Given the description of an element on the screen output the (x, y) to click on. 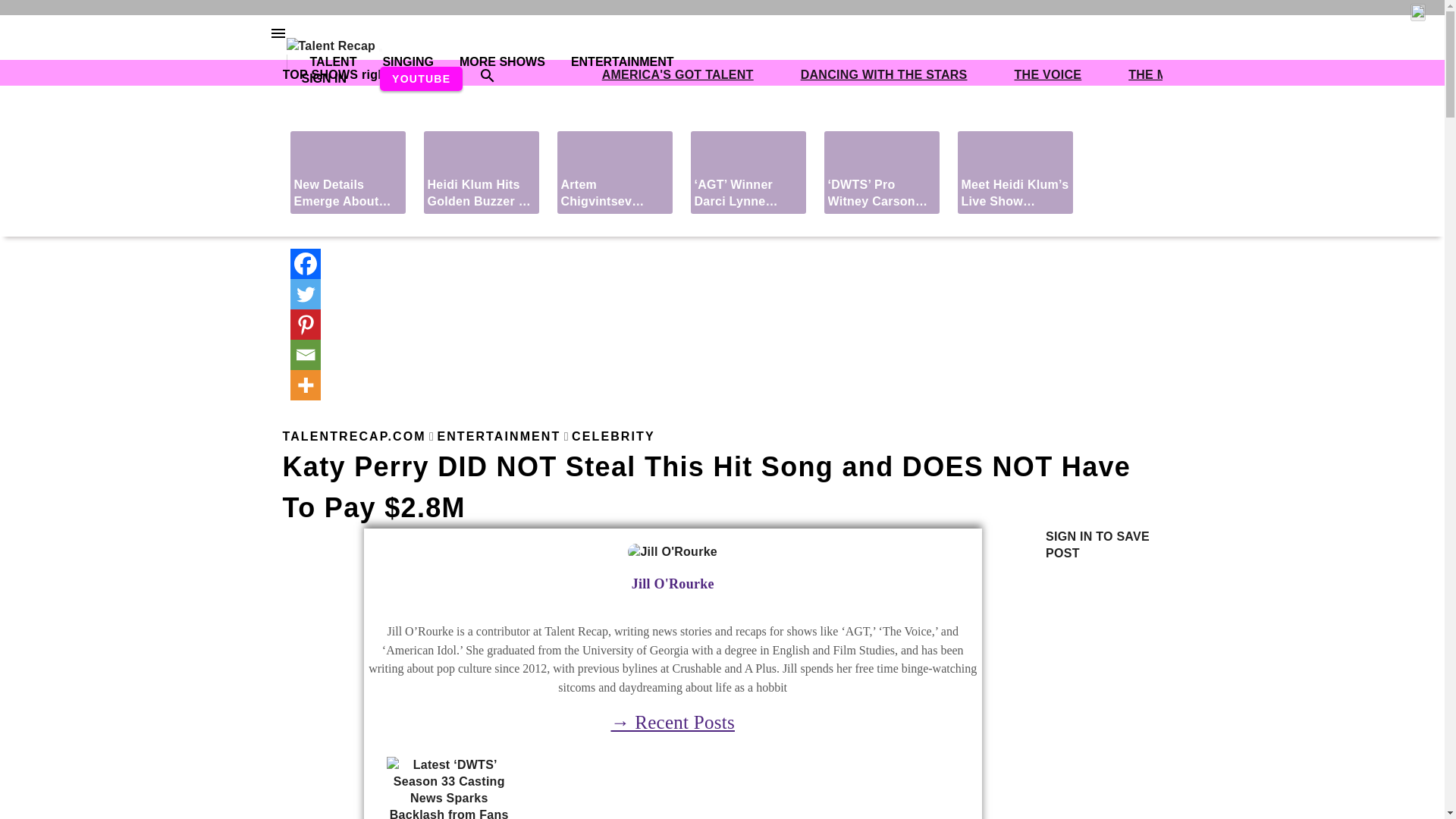
YOUTUBE (421, 78)
SIGN IN (324, 78)
More (304, 385)
AMERICA'S GOT TALENT (678, 74)
DANCING WITH THE STARS (884, 74)
Facebook (304, 263)
ENTERTAINMENT (611, 61)
Email (304, 354)
Artem Chigvintsev Reportedly Arrested for Domestic Violence (613, 172)
Pinterest (304, 324)
